Given the description of an element on the screen output the (x, y) to click on. 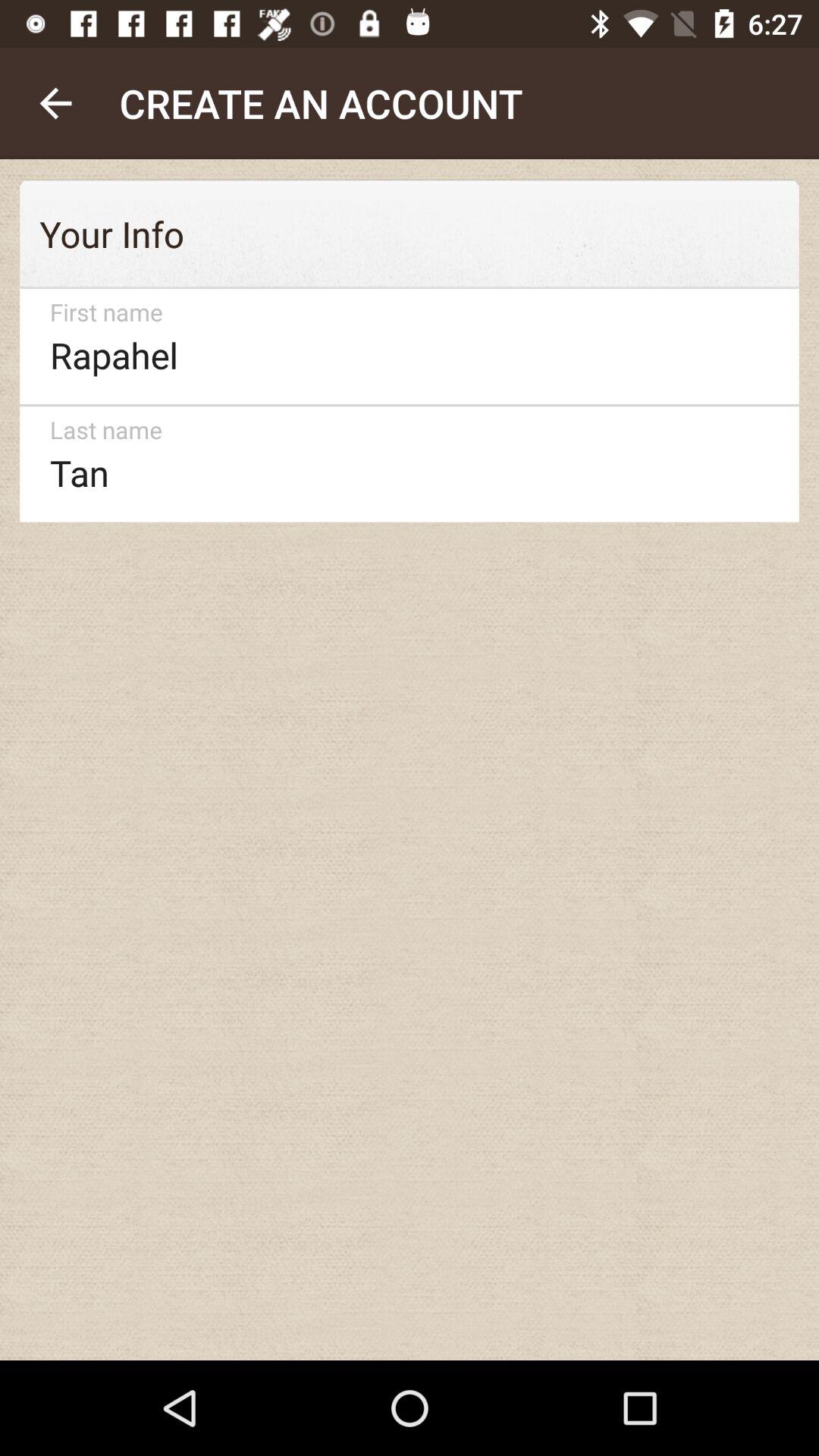
tap the icon above the your info item (55, 103)
